Given the description of an element on the screen output the (x, y) to click on. 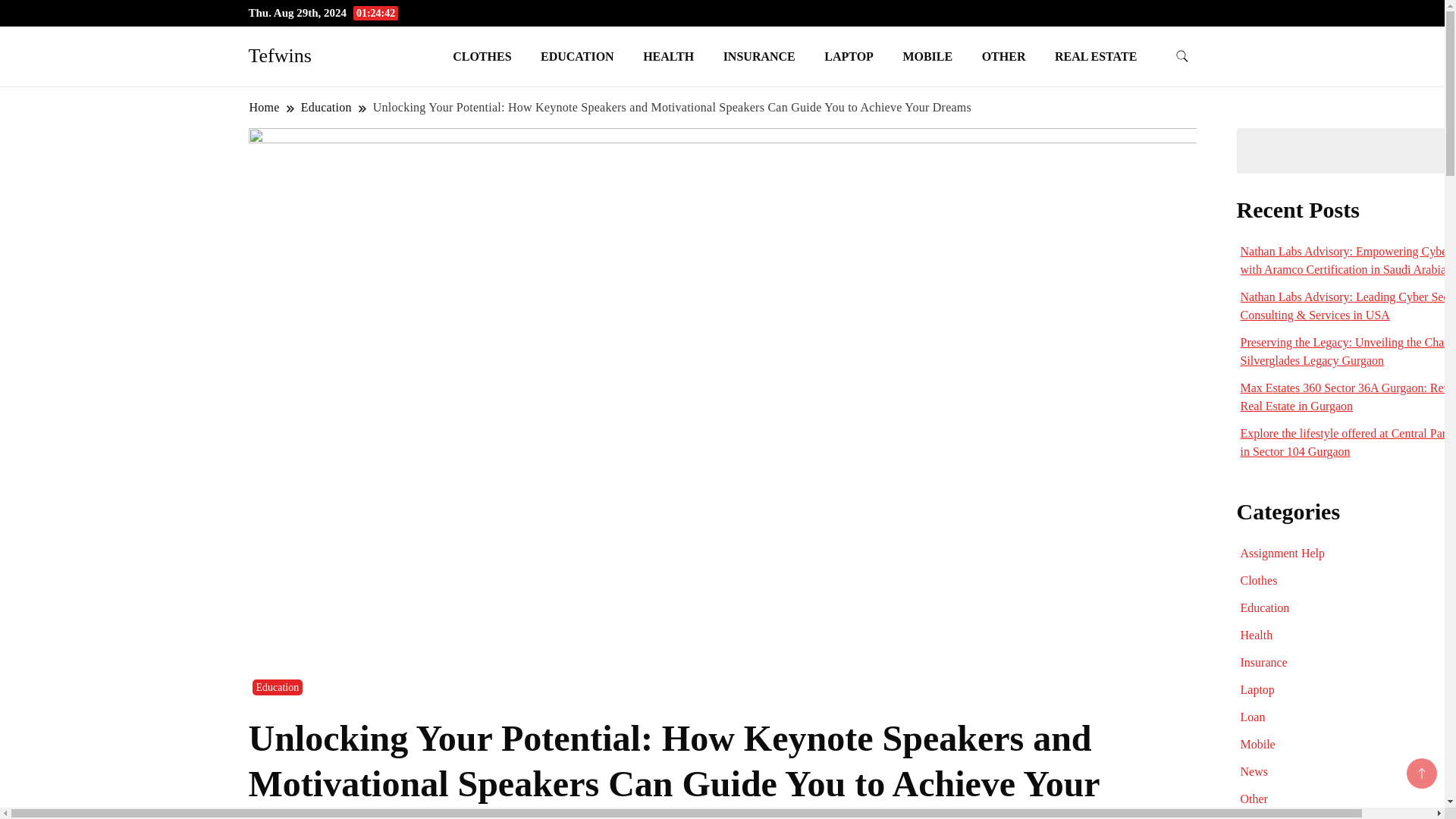
Education (325, 106)
OTHER (1004, 56)
Home (264, 106)
HEALTH (668, 56)
MOBILE (927, 56)
CLOTHES (481, 56)
Education (276, 687)
Tefwins (279, 55)
LAPTOP (848, 56)
